Given the description of an element on the screen output the (x, y) to click on. 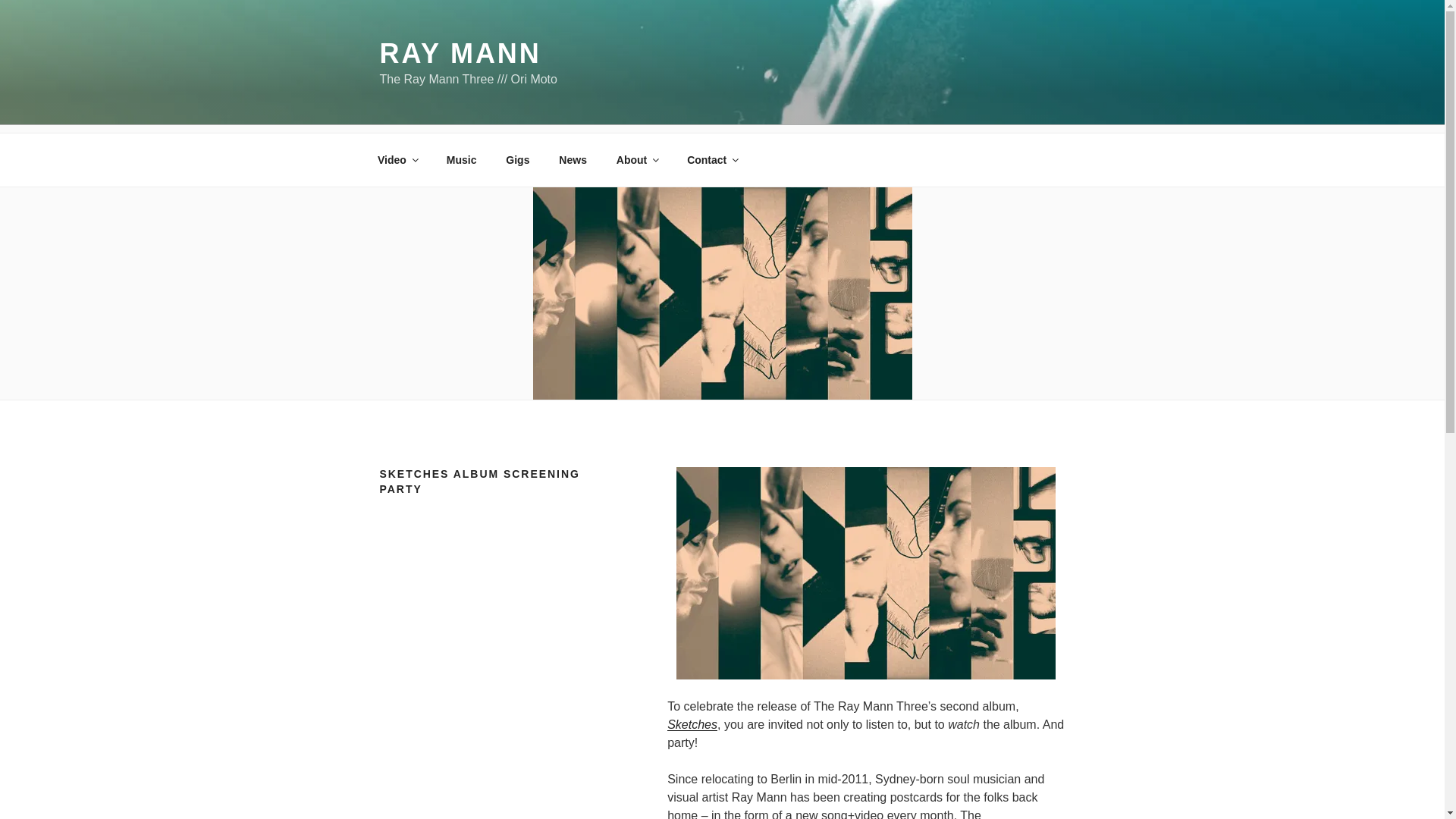
Sketches Album Screening Party (866, 572)
About (635, 159)
Music (460, 159)
News (572, 159)
Video (396, 159)
Contact (712, 159)
Gigs (518, 159)
RAY MANN (459, 52)
Sketches (691, 724)
